Given the description of an element on the screen output the (x, y) to click on. 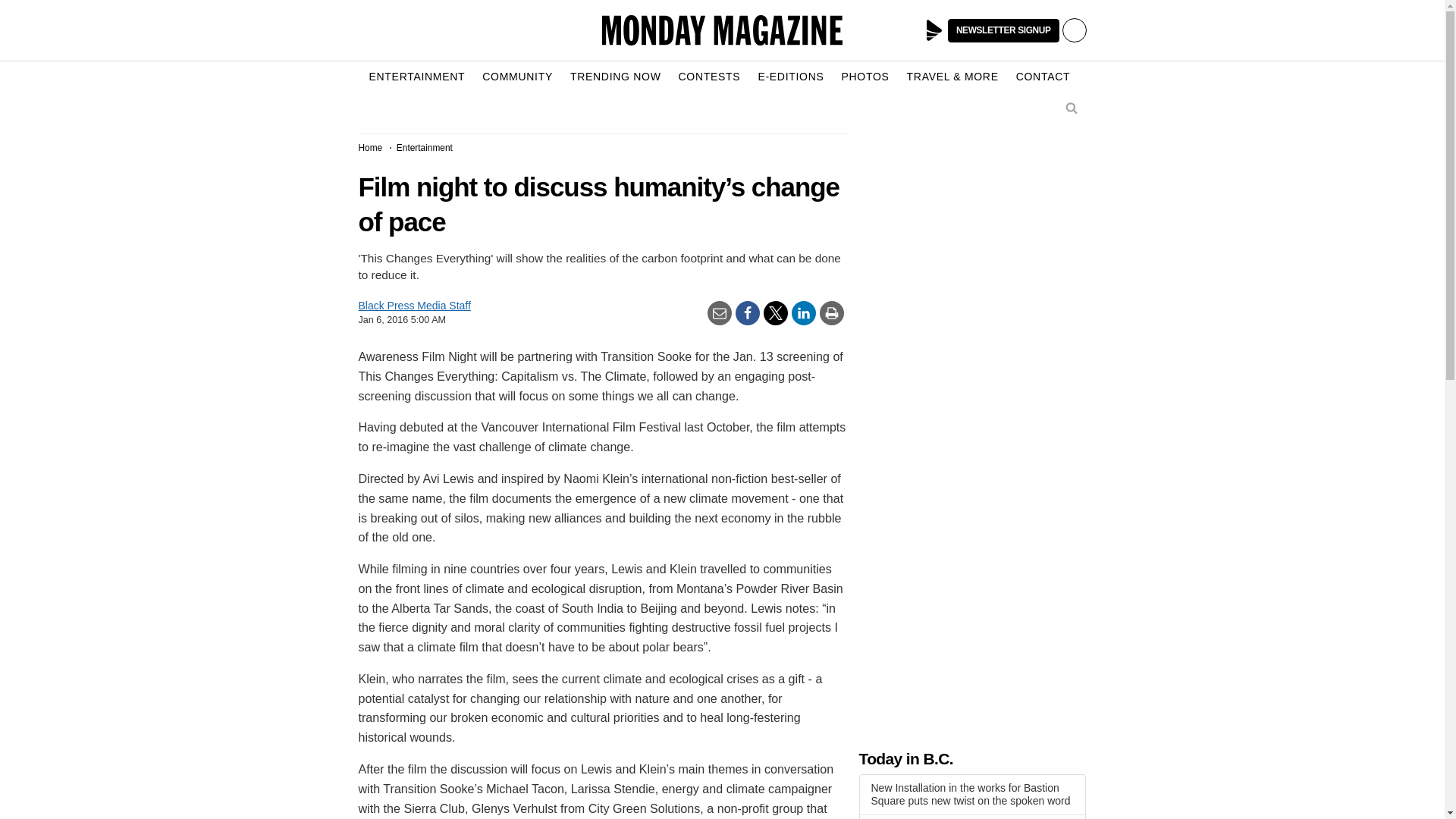
COMMUNITY (517, 76)
E-EDITIONS (790, 76)
PHOTOS (865, 76)
CONTESTS (709, 76)
Black Press Media (933, 29)
ENTERTAINMENT (416, 76)
NEWSLETTER SIGNUP (1003, 29)
Play (933, 29)
TRENDING NOW (615, 76)
